Given the description of an element on the screen output the (x, y) to click on. 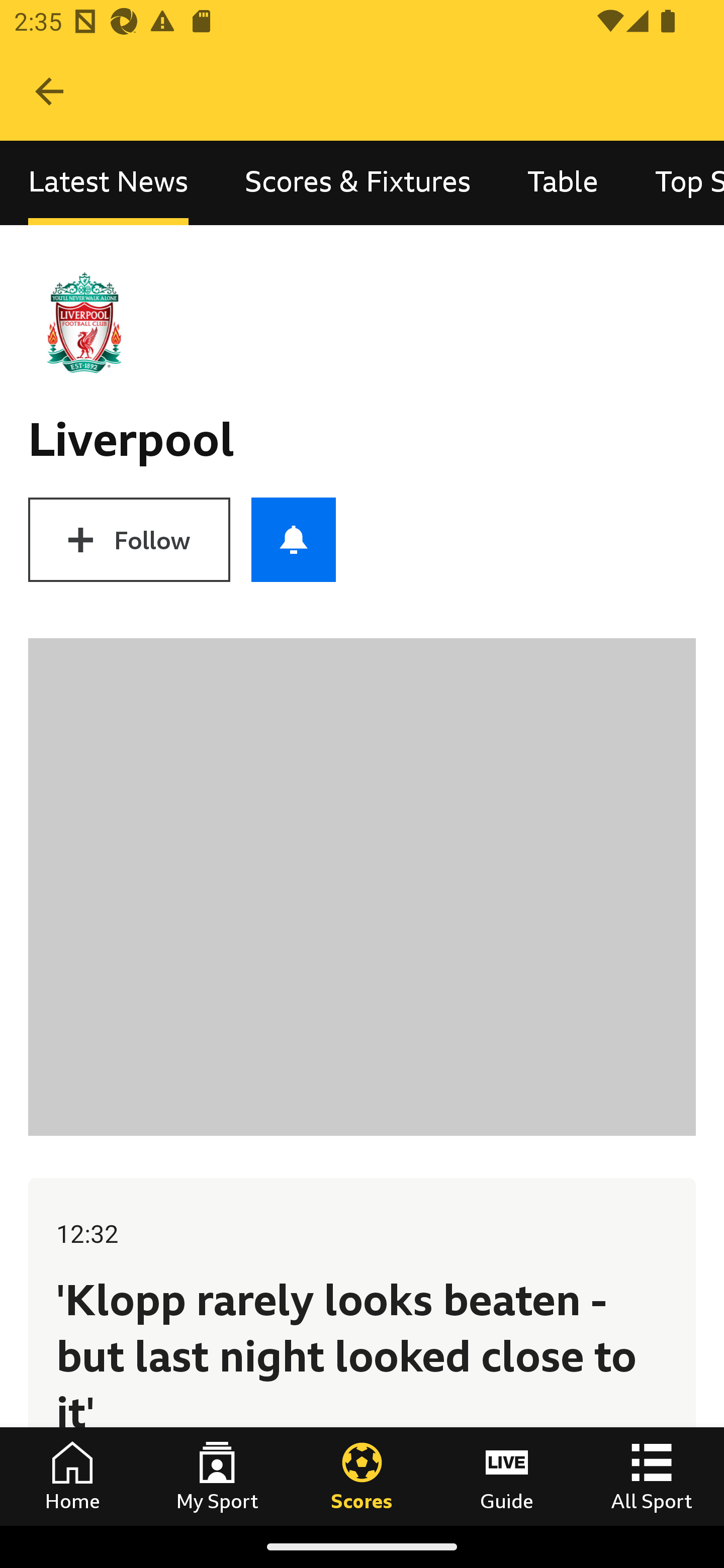
Navigate up (49, 91)
Latest News, selected Latest News (108, 183)
Scores & Fixtures (357, 183)
Table (562, 183)
Follow Liverpool Follow (129, 539)
Push notifications for Liverpool (293, 539)
Home (72, 1475)
My Sport (216, 1475)
Guide (506, 1475)
All Sport (651, 1475)
